Given the description of an element on the screen output the (x, y) to click on. 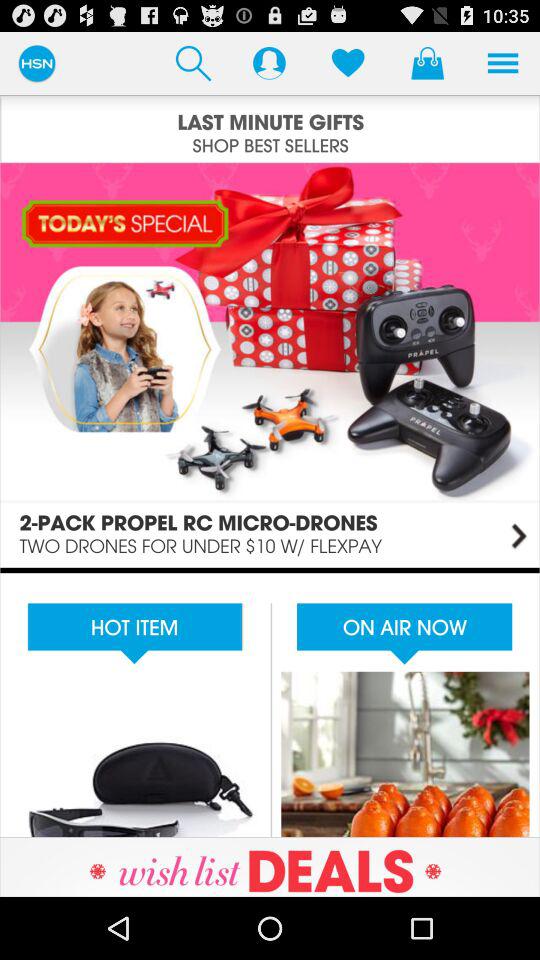
favorite items (348, 62)
